Given the description of an element on the screen output the (x, y) to click on. 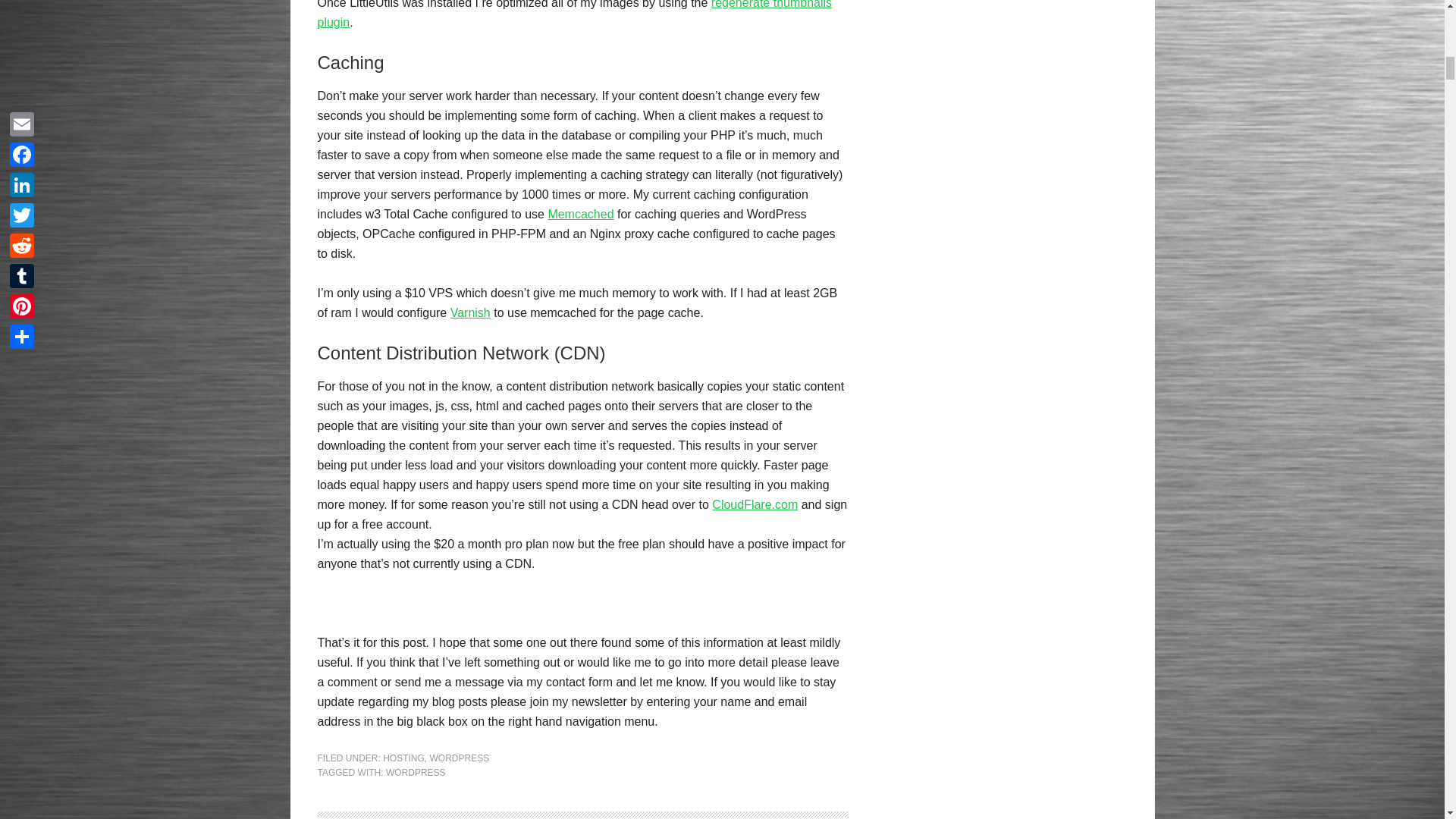
Varnish (469, 312)
CloudFlare.com (754, 504)
HOSTING (403, 757)
Memcached (579, 214)
WORDPRESS (459, 757)
regenerate thumbnails plugin (574, 14)
WORDPRESS (415, 772)
